Given the description of an element on the screen output the (x, y) to click on. 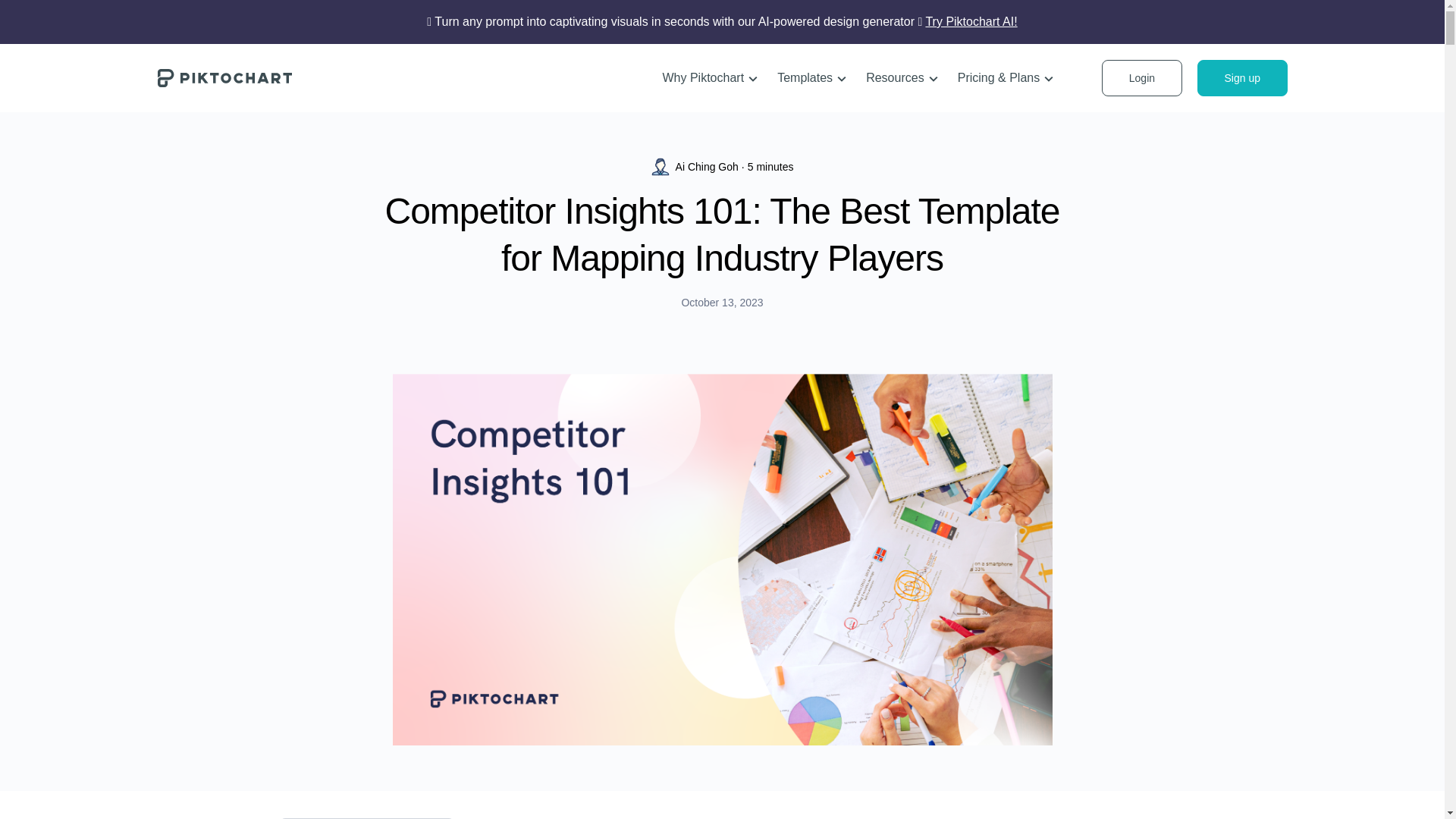
Why Piktochart (710, 78)
Try Piktochart AI! (970, 21)
Piktochart (224, 77)
Why Piktochart (710, 78)
